Given the description of an element on the screen output the (x, y) to click on. 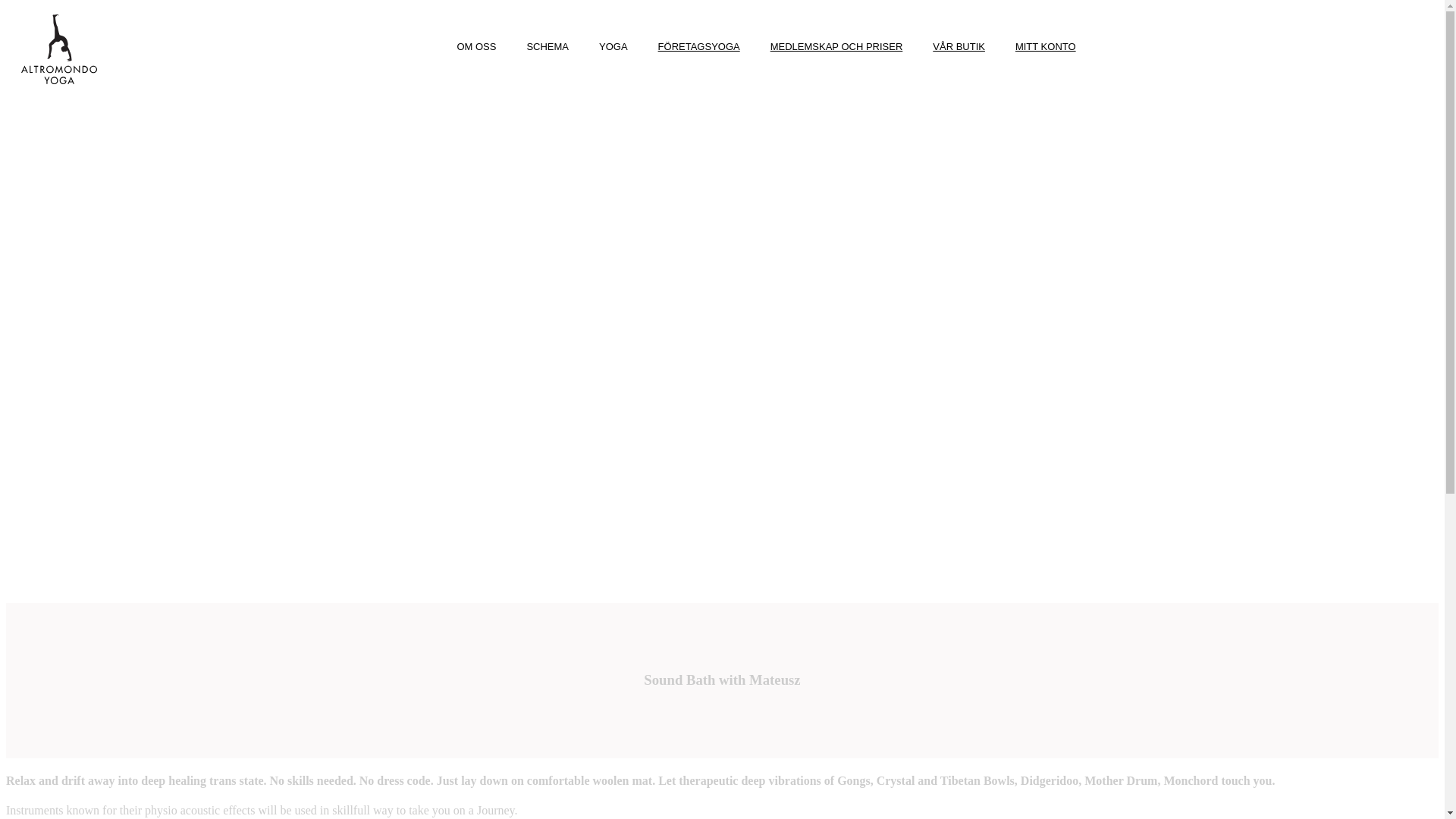
MEDLEMSKAP OCH PRISER (836, 46)
MITT KONTO (1044, 46)
